Given the description of an element on the screen output the (x, y) to click on. 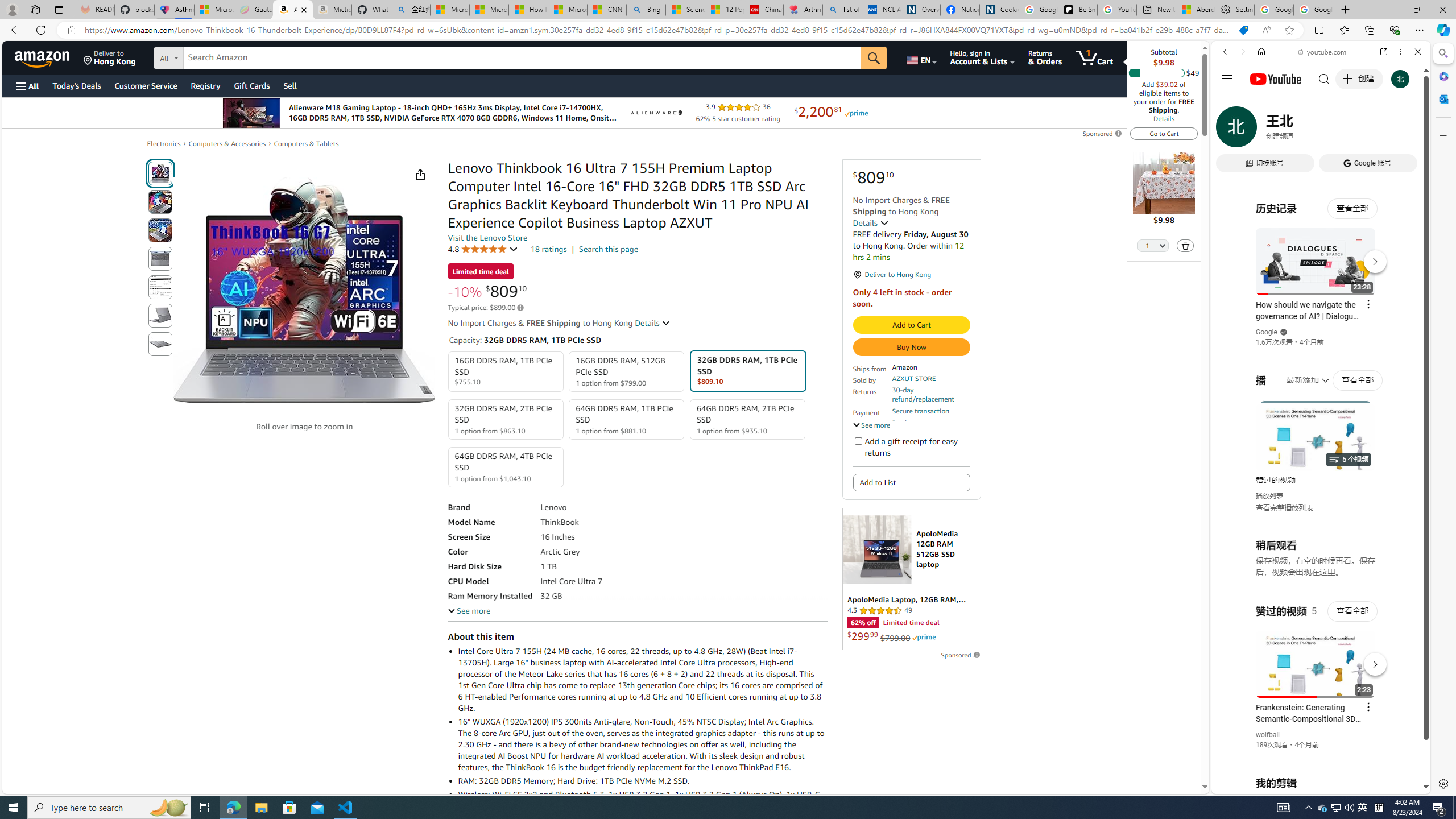
RAM: 32GB DDR5 Memory; Hard Drive: 1TB PCIe NVMe M.2 SSD. (642, 780)
Choose a language for shopping. (920, 57)
US[ju] (1249, 785)
32GB DDR5 RAM, 2TB PCIe SSD 1 option from $863.10 (505, 418)
Today's Deals (76, 85)
18 ratings (547, 248)
